Given the description of an element on the screen output the (x, y) to click on. 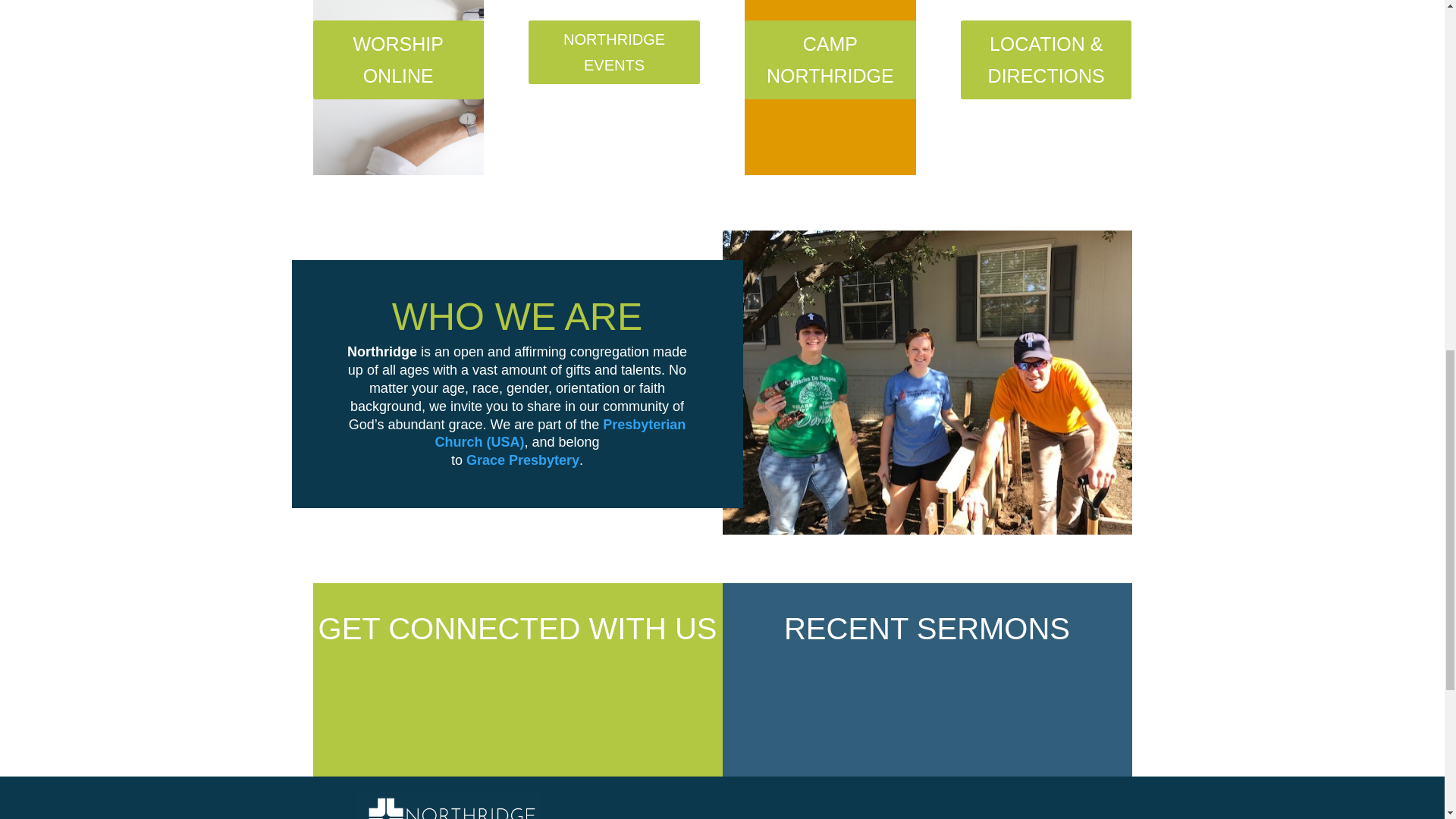
Northridge Presbyterian Church (449, 804)
